Given the description of an element on the screen output the (x, y) to click on. 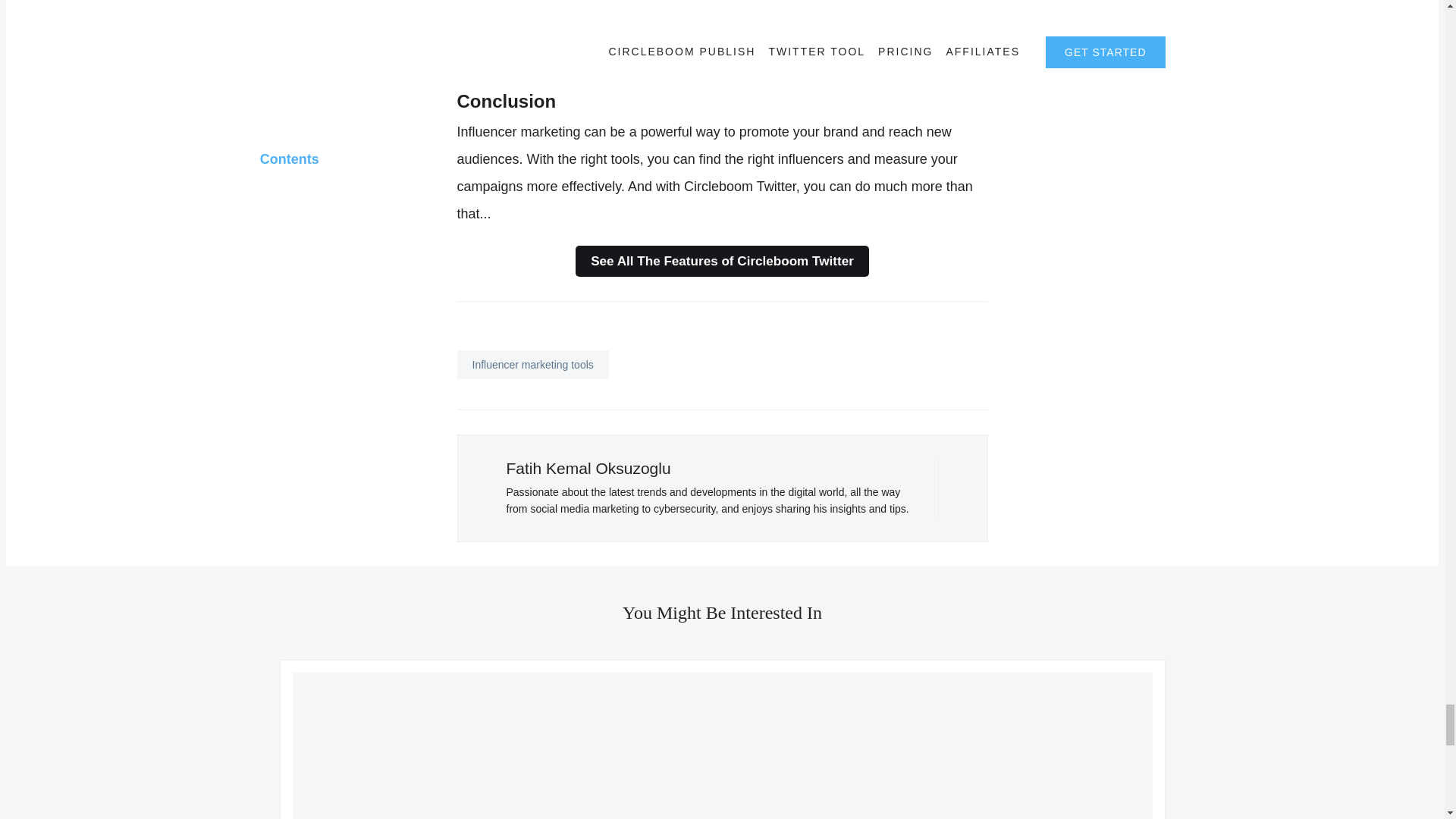
See All The Features of Circleboom Twitter (722, 260)
